Given the description of an element on the screen output the (x, y) to click on. 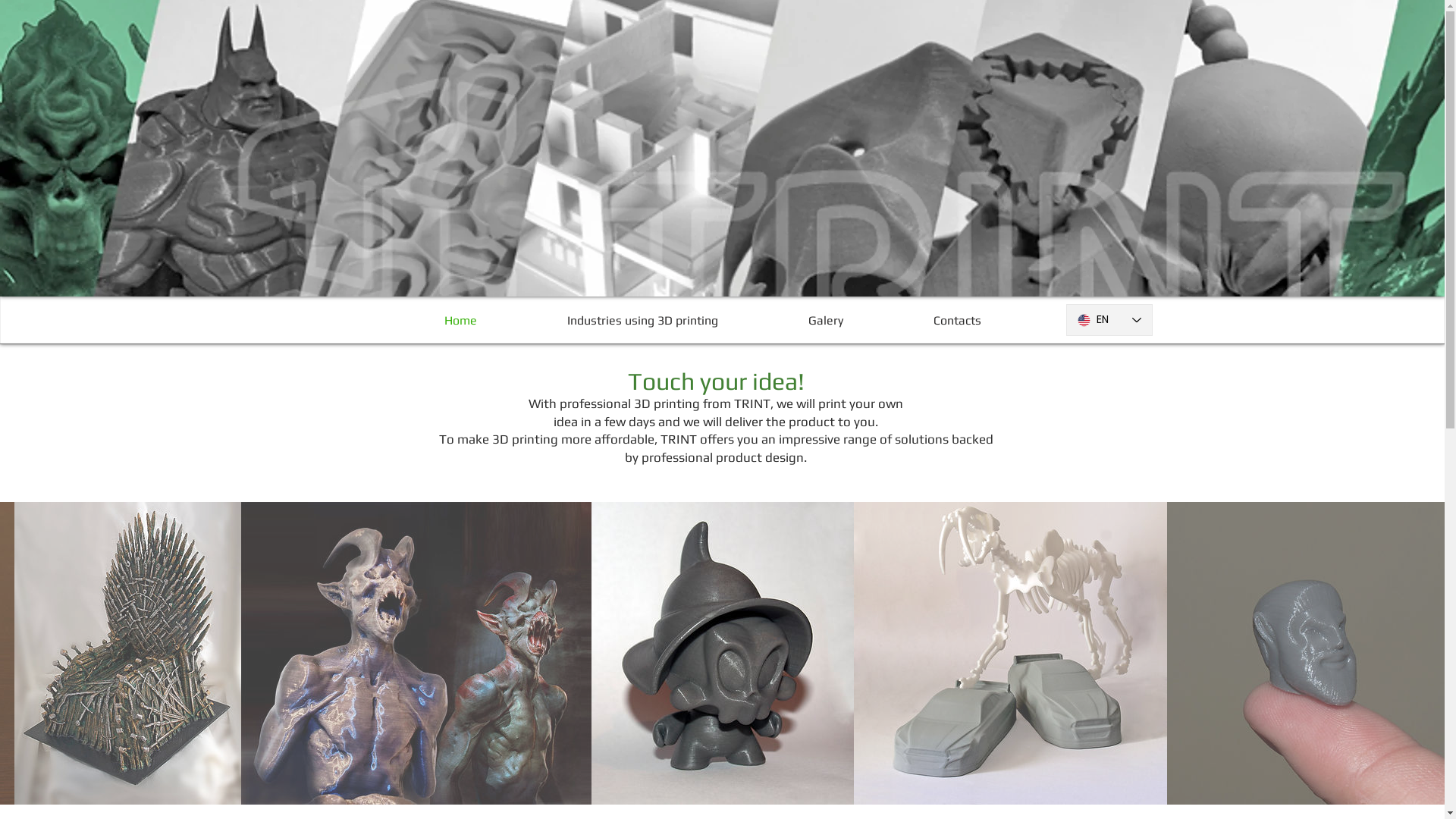
Home Element type: text (459, 319)
Contacts Element type: text (957, 319)
Industries using 3D printing Element type: text (641, 319)
Galery Element type: text (825, 319)
